Given the description of an element on the screen output the (x, y) to click on. 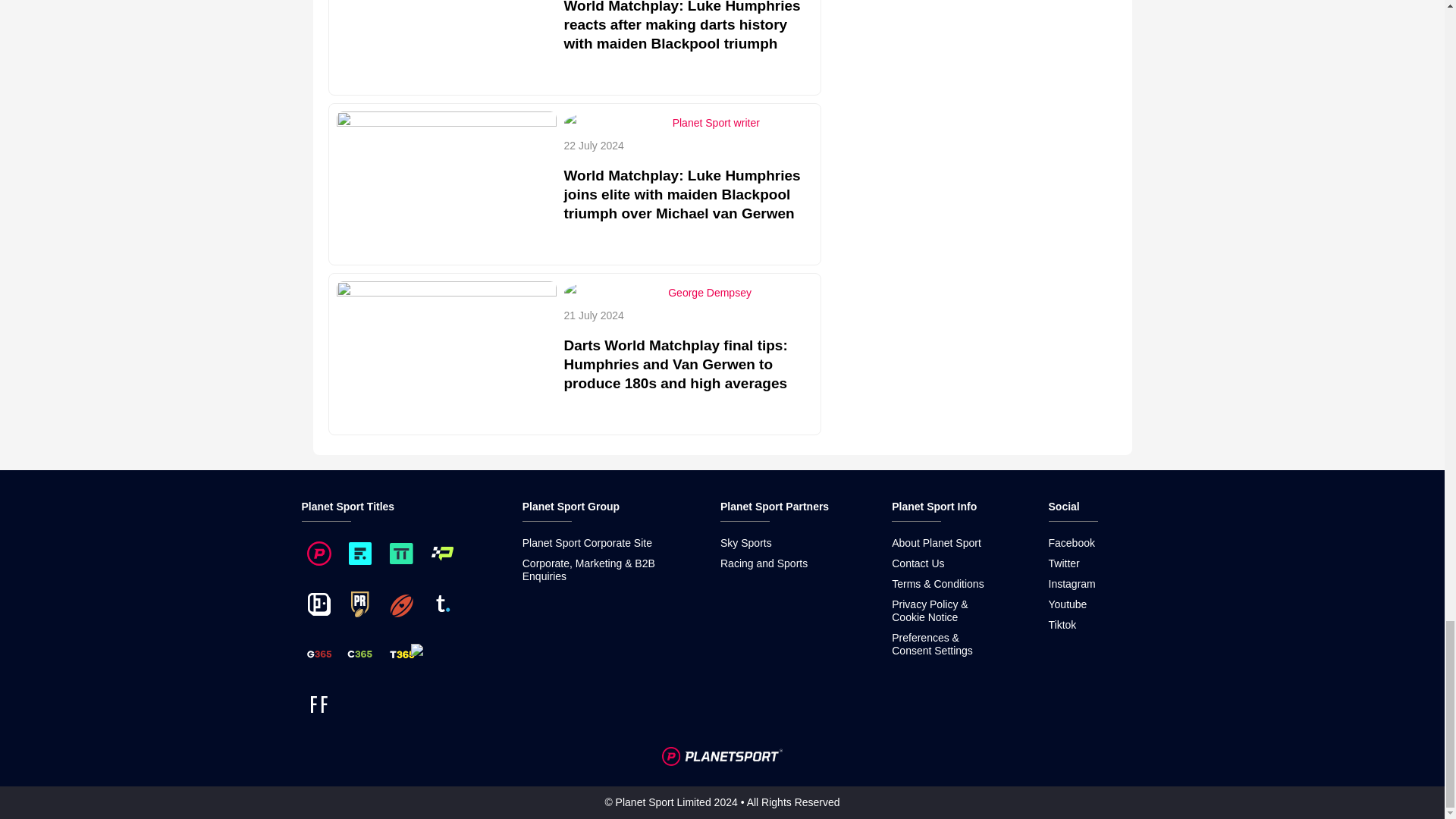
About Planet Sport (936, 542)
